Given the description of an element on the screen output the (x, y) to click on. 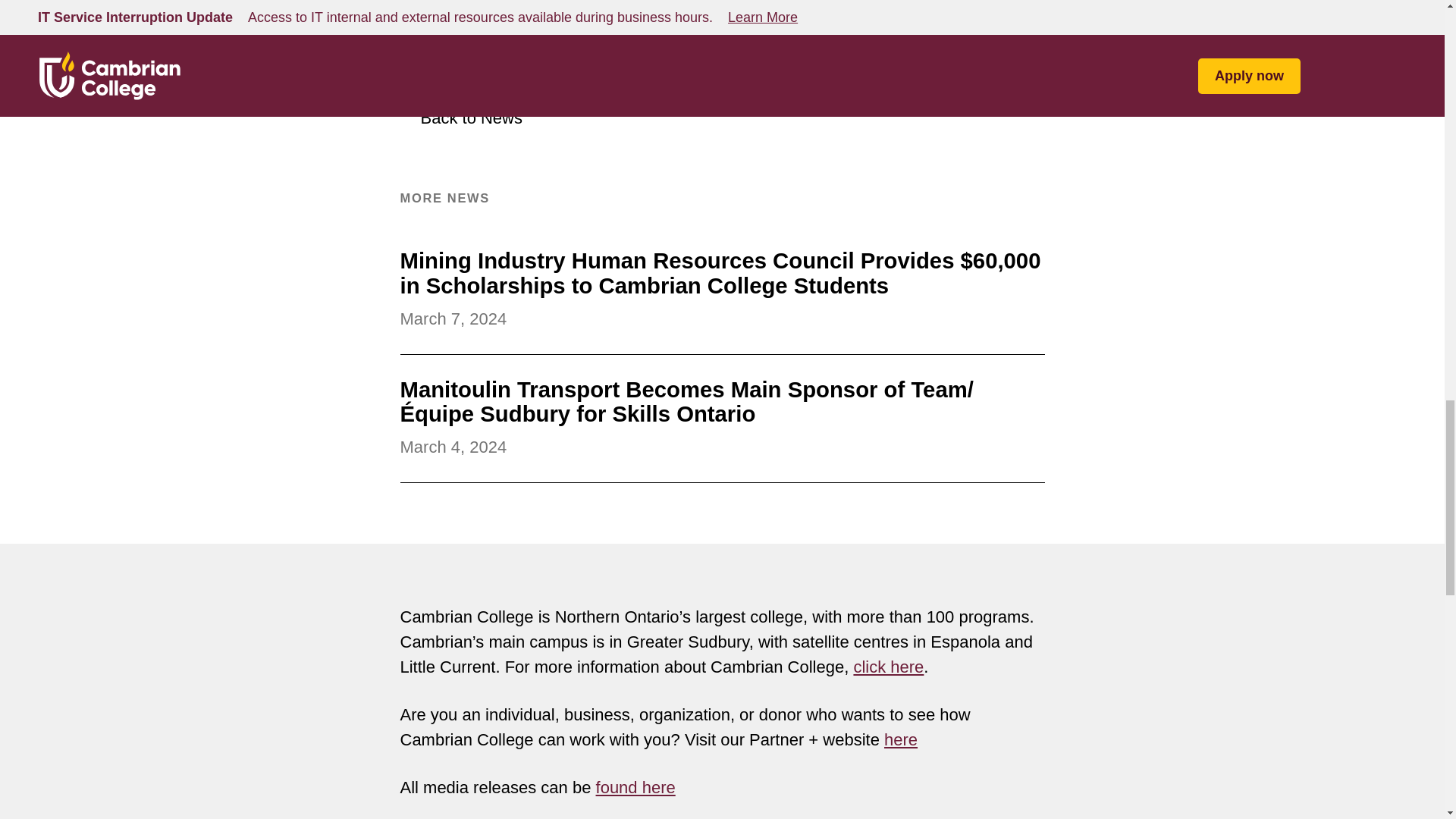
found here (635, 787)
click here (888, 666)
Back to News (461, 117)
here (900, 739)
